Given the description of an element on the screen output the (x, y) to click on. 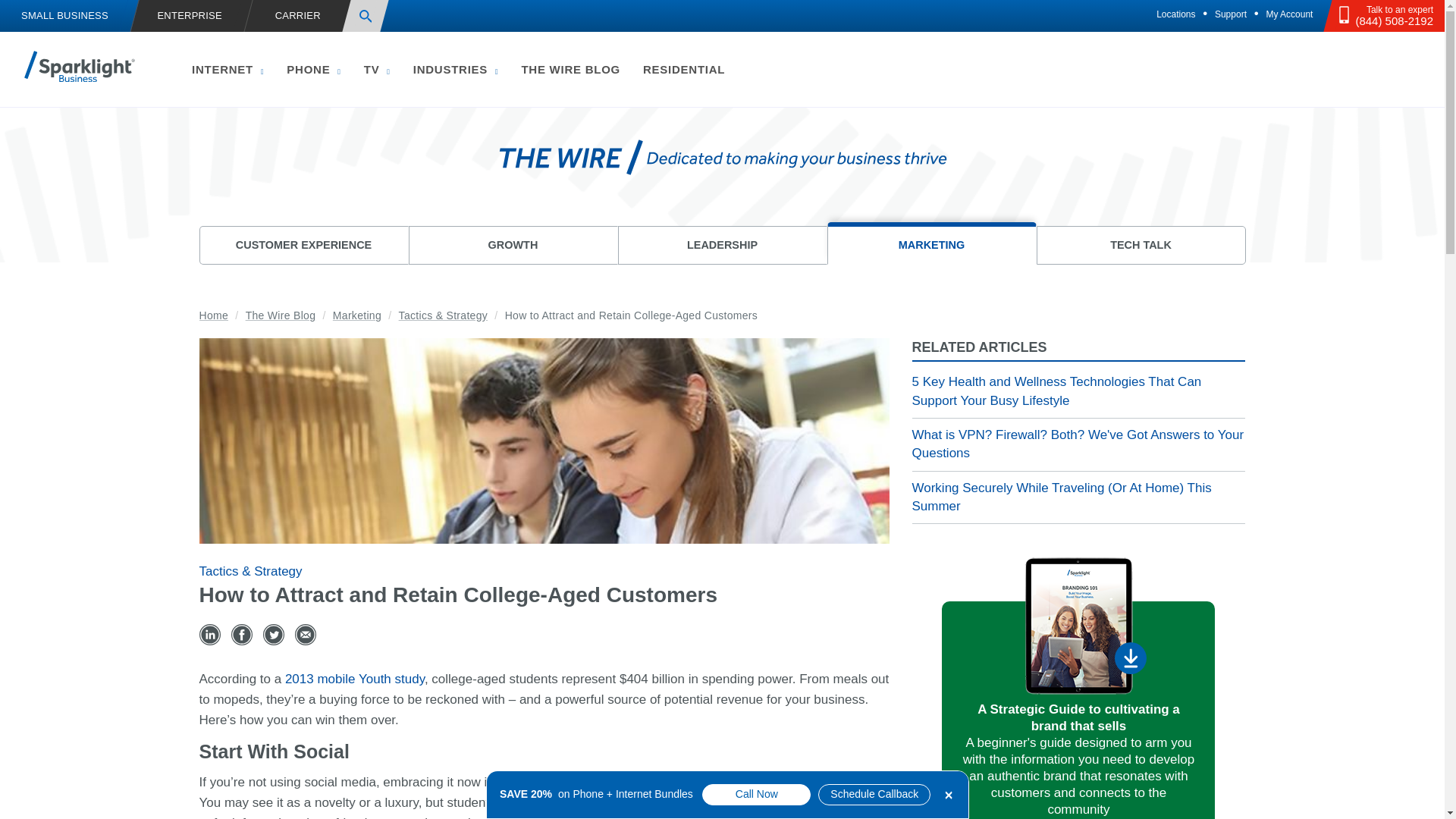
CARRIER (297, 16)
ENTERPRISE (186, 16)
Support (1230, 14)
TV (376, 68)
Search (365, 15)
Sparklight Business (79, 65)
INTERNET (227, 68)
Locations (1175, 14)
PHONE (313, 68)
SMALL BUSINESS (64, 16)
My Account (1289, 14)
